Given the description of an element on the screen output the (x, y) to click on. 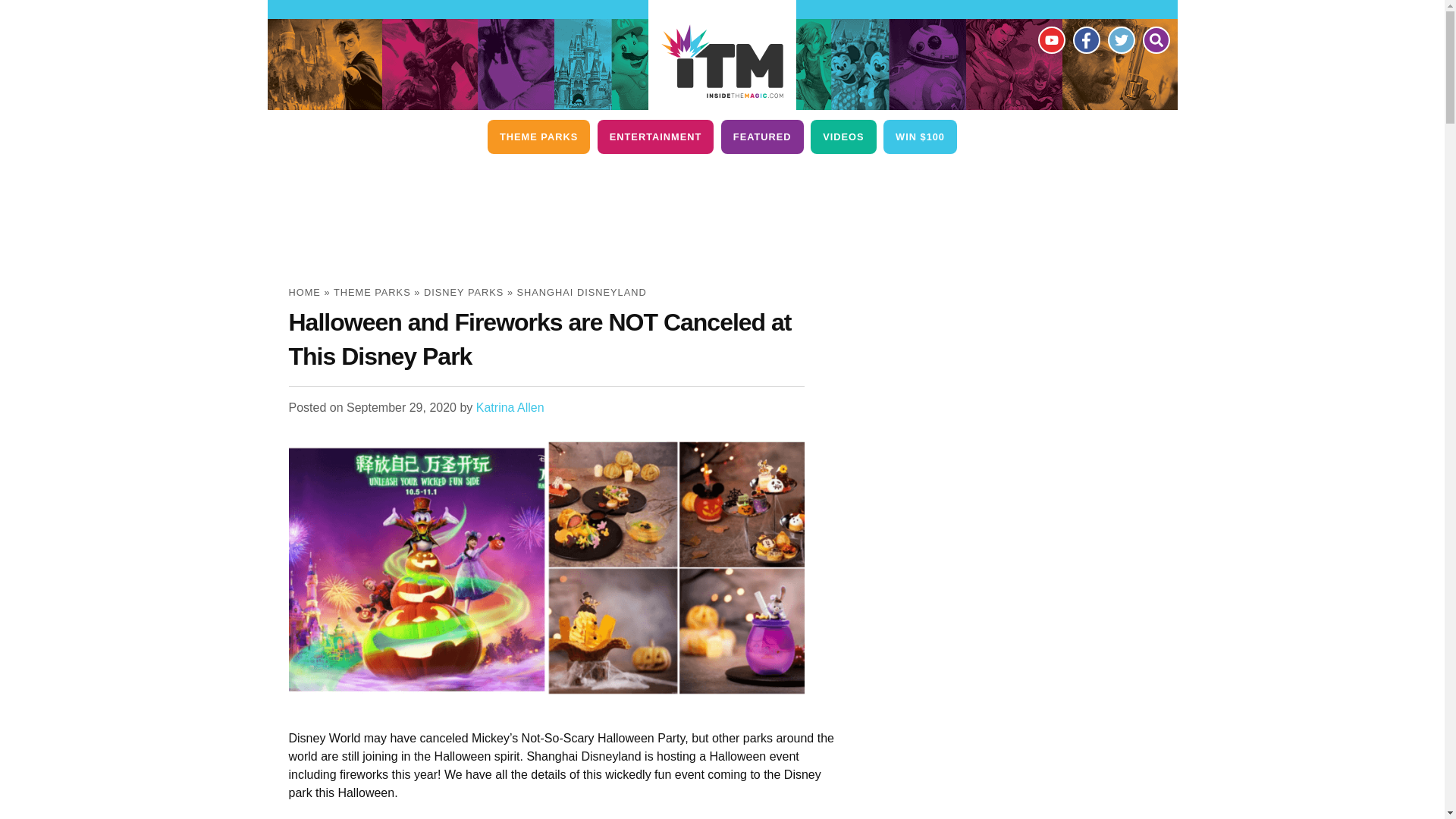
THEME PARKS (538, 136)
YouTube (1050, 40)
Search (1155, 40)
ENTERTAINMENT (655, 136)
FEATURED (761, 136)
Facebook (1085, 40)
Twitter (1120, 40)
